Given the description of an element on the screen output the (x, y) to click on. 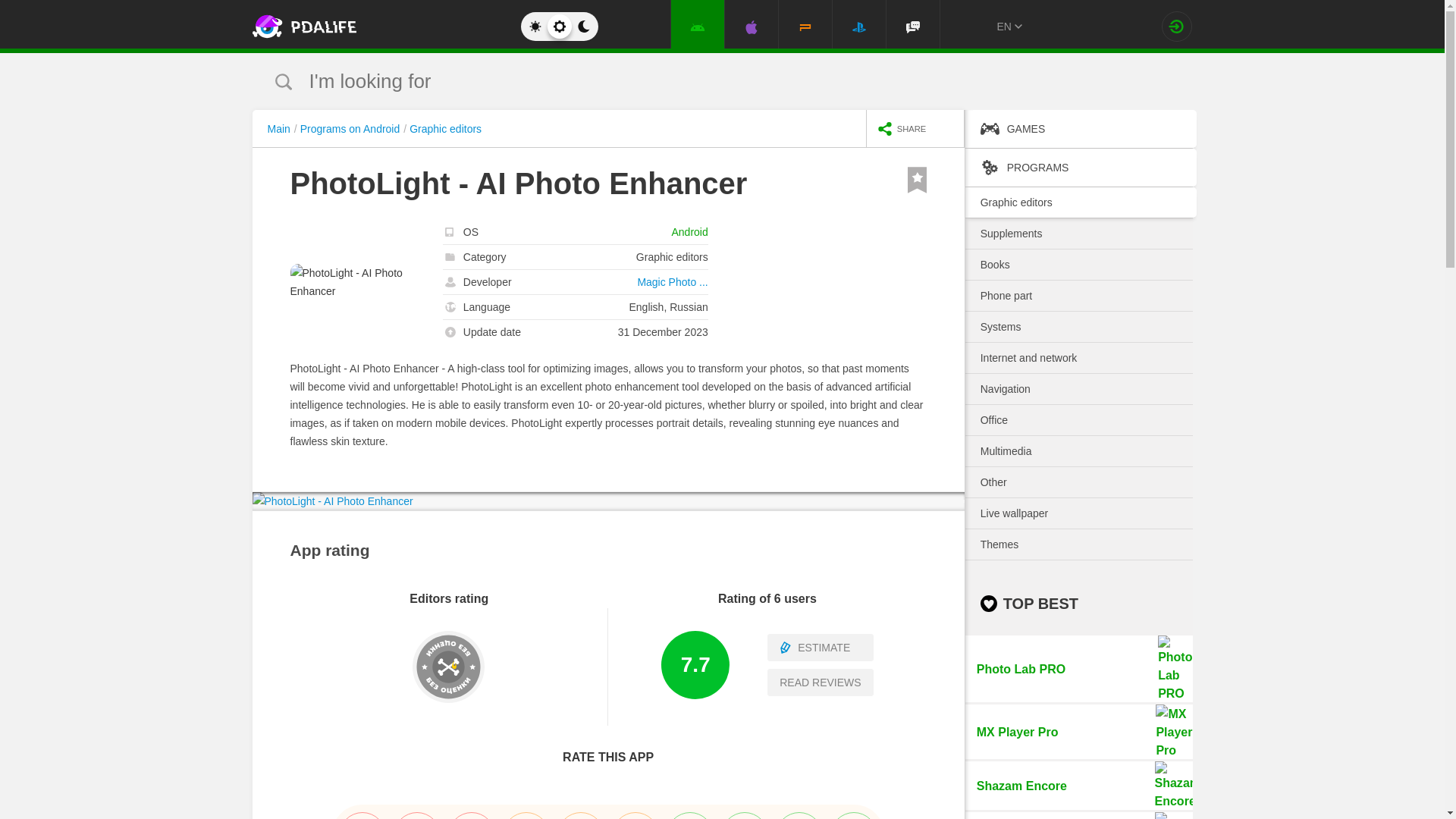
Main (281, 128)
PDALIFE.com (368, 26)
Magic Photo ... (672, 282)
Programs on Android (352, 128)
ESTIMATE (819, 646)
Shazam Encore (1078, 785)
Photo Lab PRO (607, 811)
Graphic editors (1078, 668)
READ REVIEWS (445, 128)
